Given the description of an element on the screen output the (x, y) to click on. 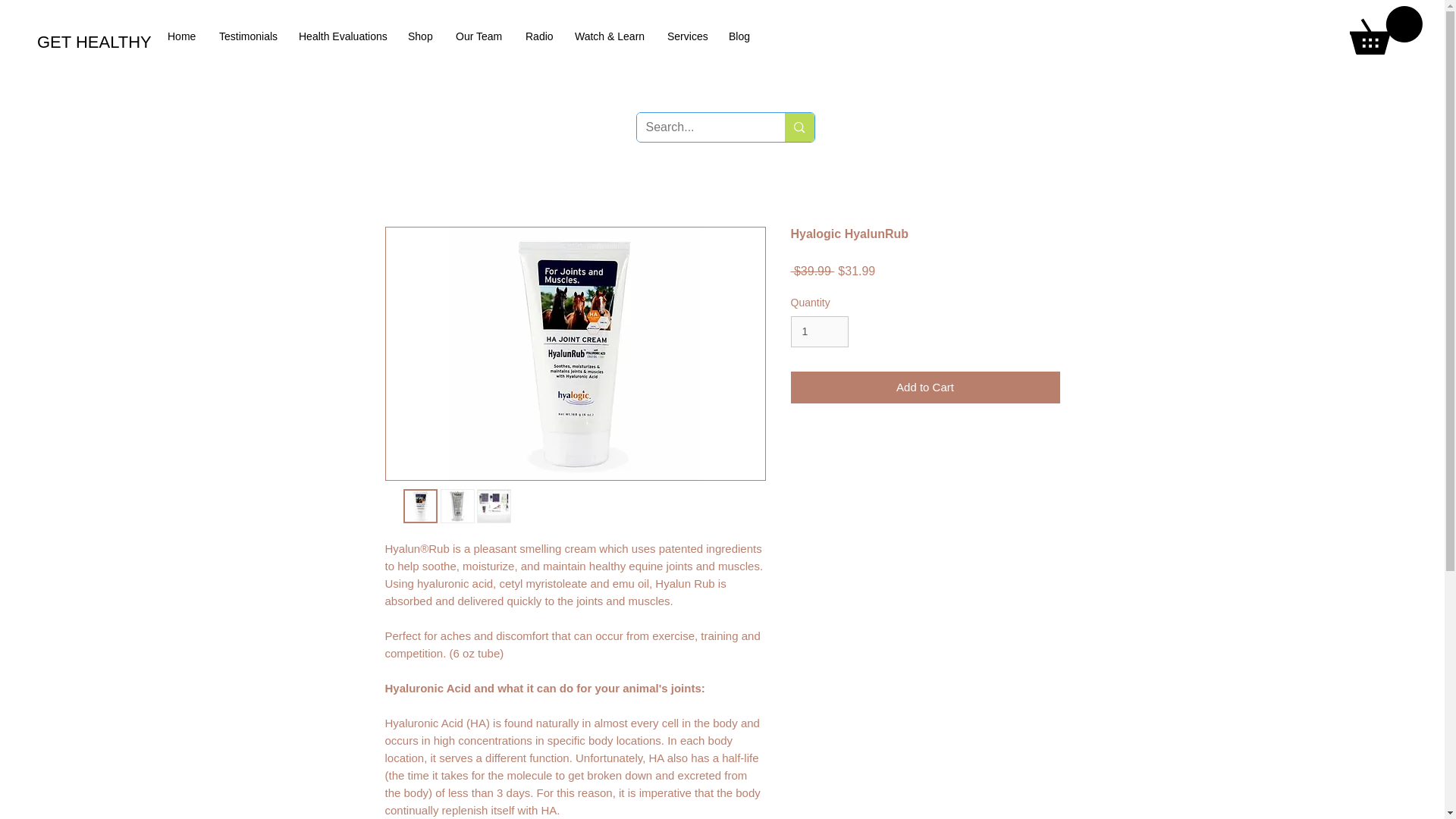
Radio (538, 36)
Testimonials (247, 36)
Add to Cart (924, 387)
GET HEALTHY (151, 42)
1 (818, 331)
Home (181, 36)
Services (686, 36)
Shop (420, 36)
Blog (739, 36)
Health Evaluations (341, 36)
